Given the description of an element on the screen output the (x, y) to click on. 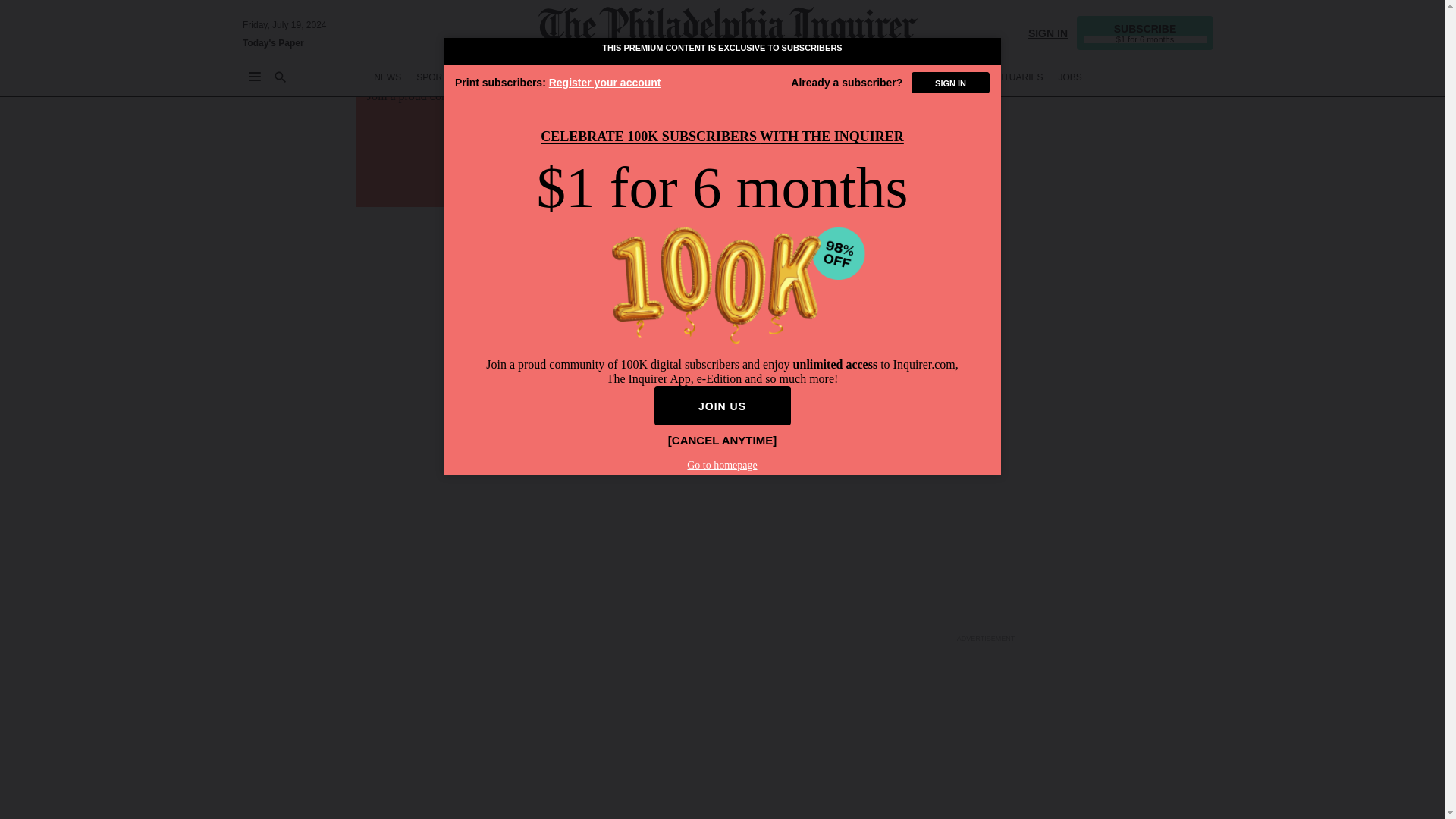
3rd party ad content (985, 84)
